Given the description of an element on the screen output the (x, y) to click on. 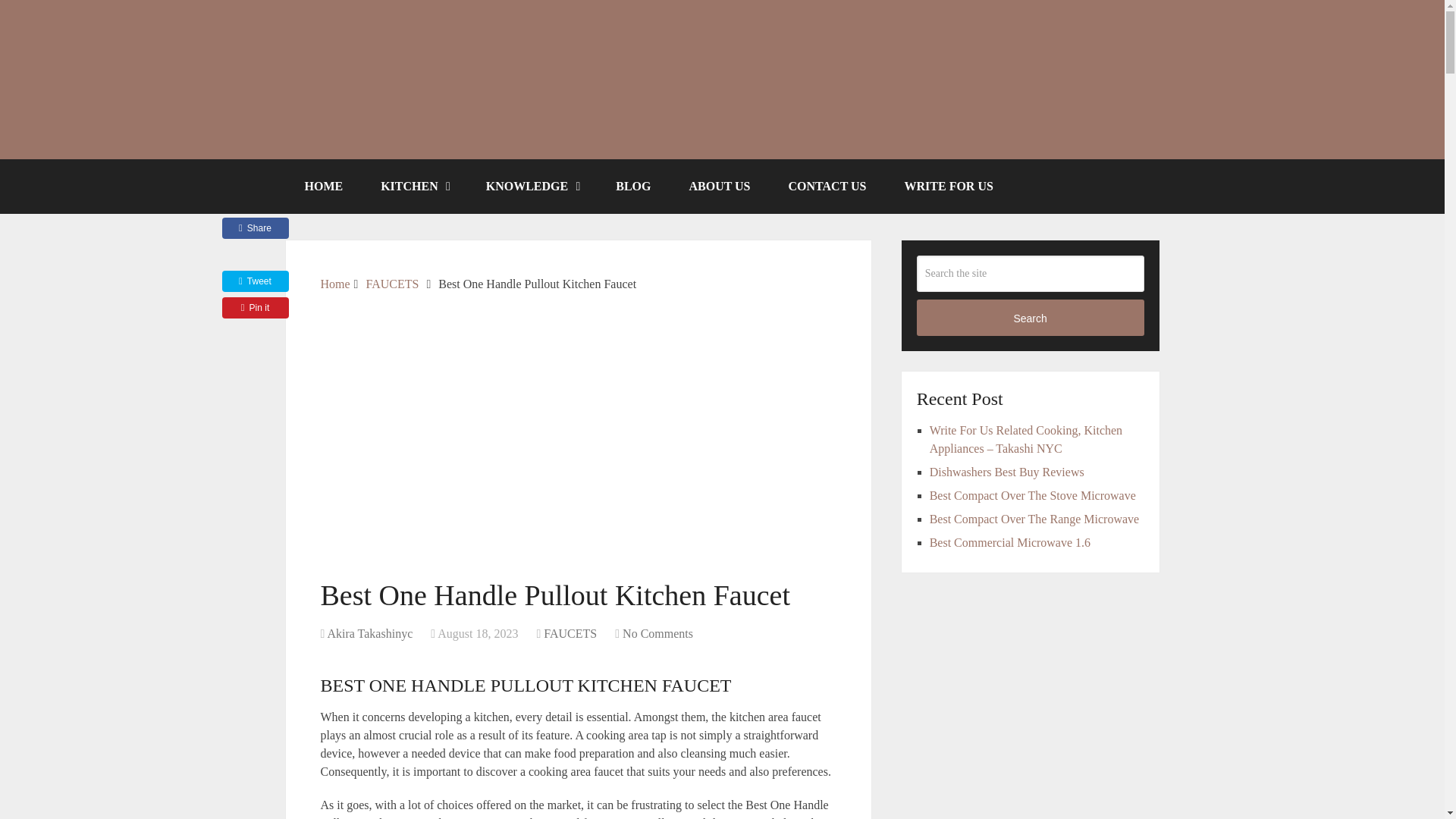
No Comments (658, 633)
HOME (323, 185)
BLOG (632, 185)
FAUCETS (569, 633)
KITCHEN (414, 185)
View all posts in FAUCETS (569, 633)
Akira Takashinyc (369, 633)
WRITE FOR US (948, 185)
FAUCETS (392, 283)
KNOWLEDGE (531, 185)
